Given the description of an element on the screen output the (x, y) to click on. 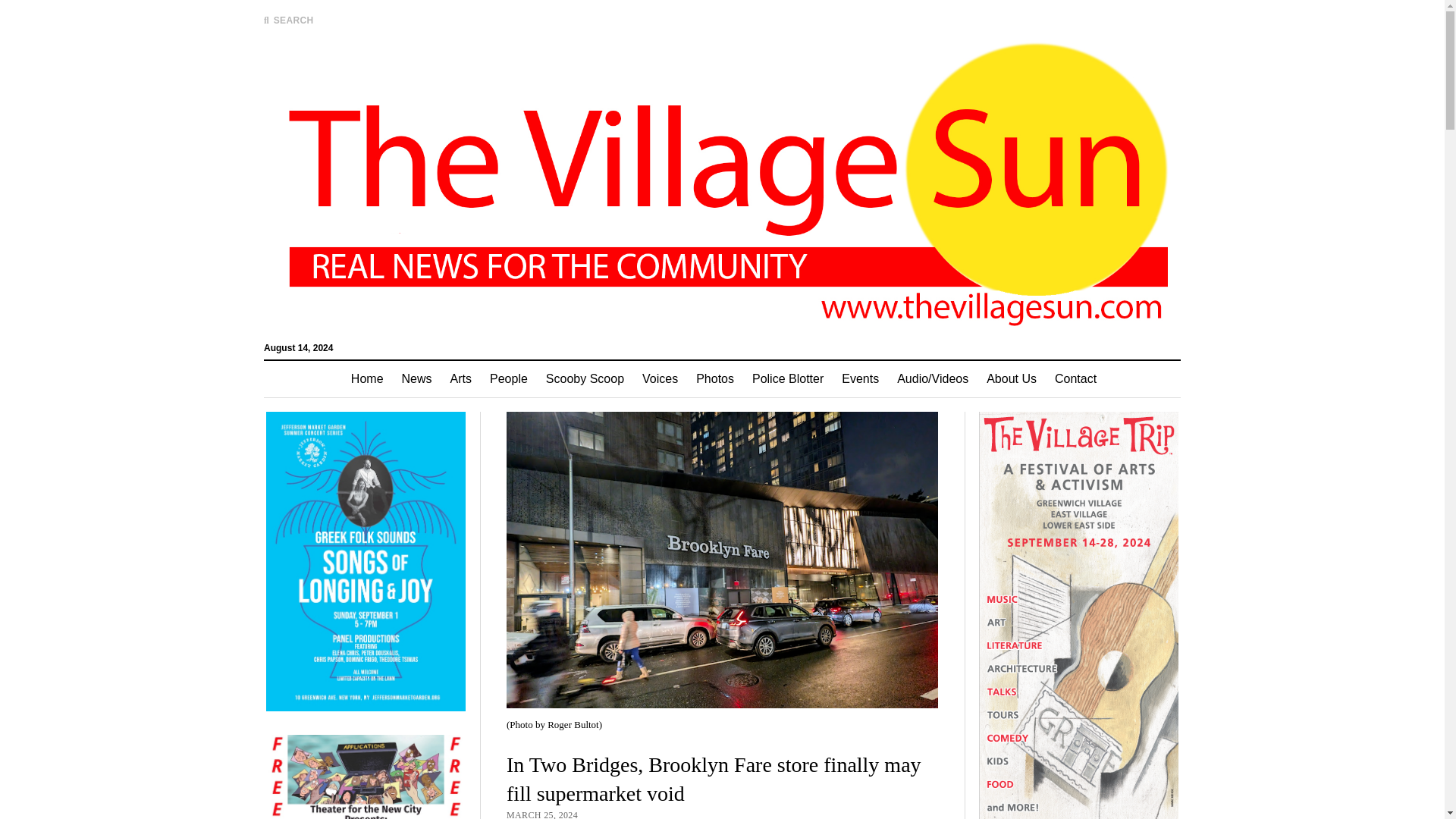
News (417, 379)
Contact (1075, 379)
Voices (660, 379)
Arts (460, 379)
Home (367, 379)
About Us (1010, 379)
Police Blotter (787, 379)
People (508, 379)
Photos (714, 379)
Events (860, 379)
